Given the description of an element on the screen output the (x, y) to click on. 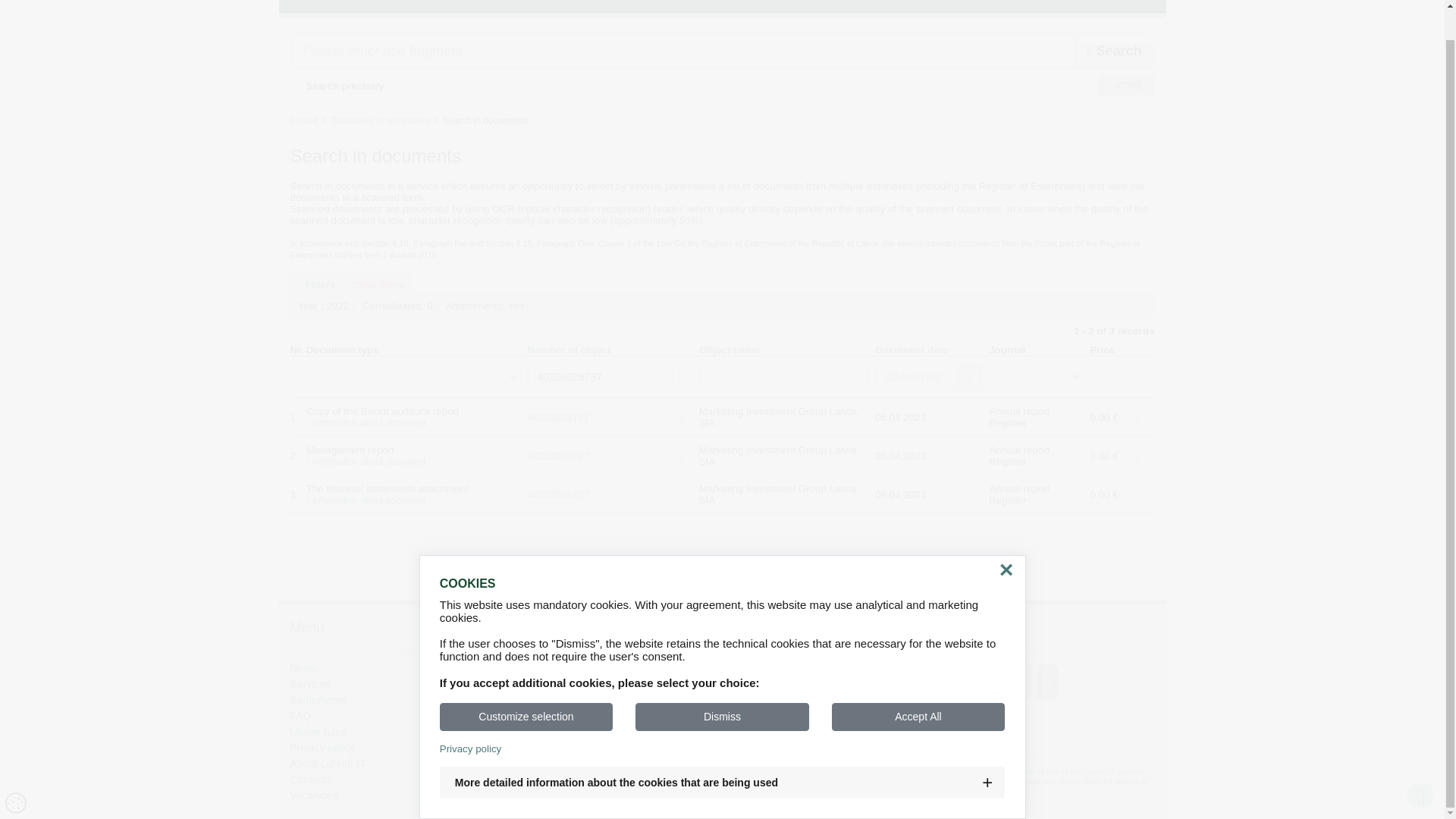
Search (1114, 50)
Company report (558, 494)
Lursoft phone (552, 728)
zo.lv (845, 681)
Lursoft email (546, 672)
SUBSCRIPTION (627, 6)
Lursoft in Twitter (534, 709)
Lursoft Skype (539, 691)
DATA BASES (461, 6)
Databases of companies (379, 120)
MONITORING (544, 6)
40203028787 (599, 376)
Company report (558, 417)
Lursoft (303, 120)
Company report (558, 455)
